Given the description of an element on the screen output the (x, y) to click on. 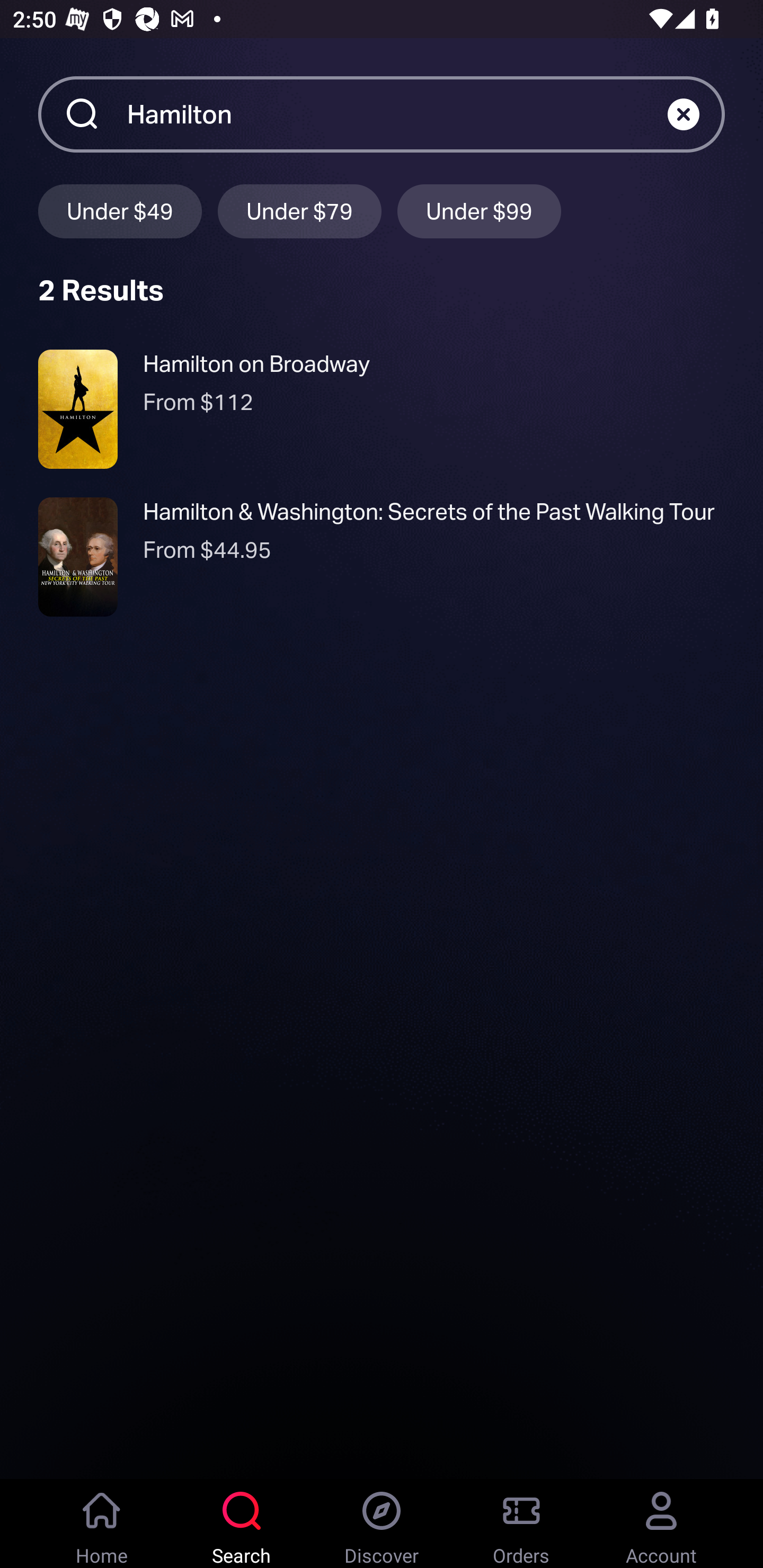
Hamilton (397, 113)
Under $49 (120, 211)
Under $79 (299, 211)
Under $99 (478, 211)
Home (101, 1523)
Discover (381, 1523)
Orders (521, 1523)
Account (660, 1523)
